Given the description of an element on the screen output the (x, y) to click on. 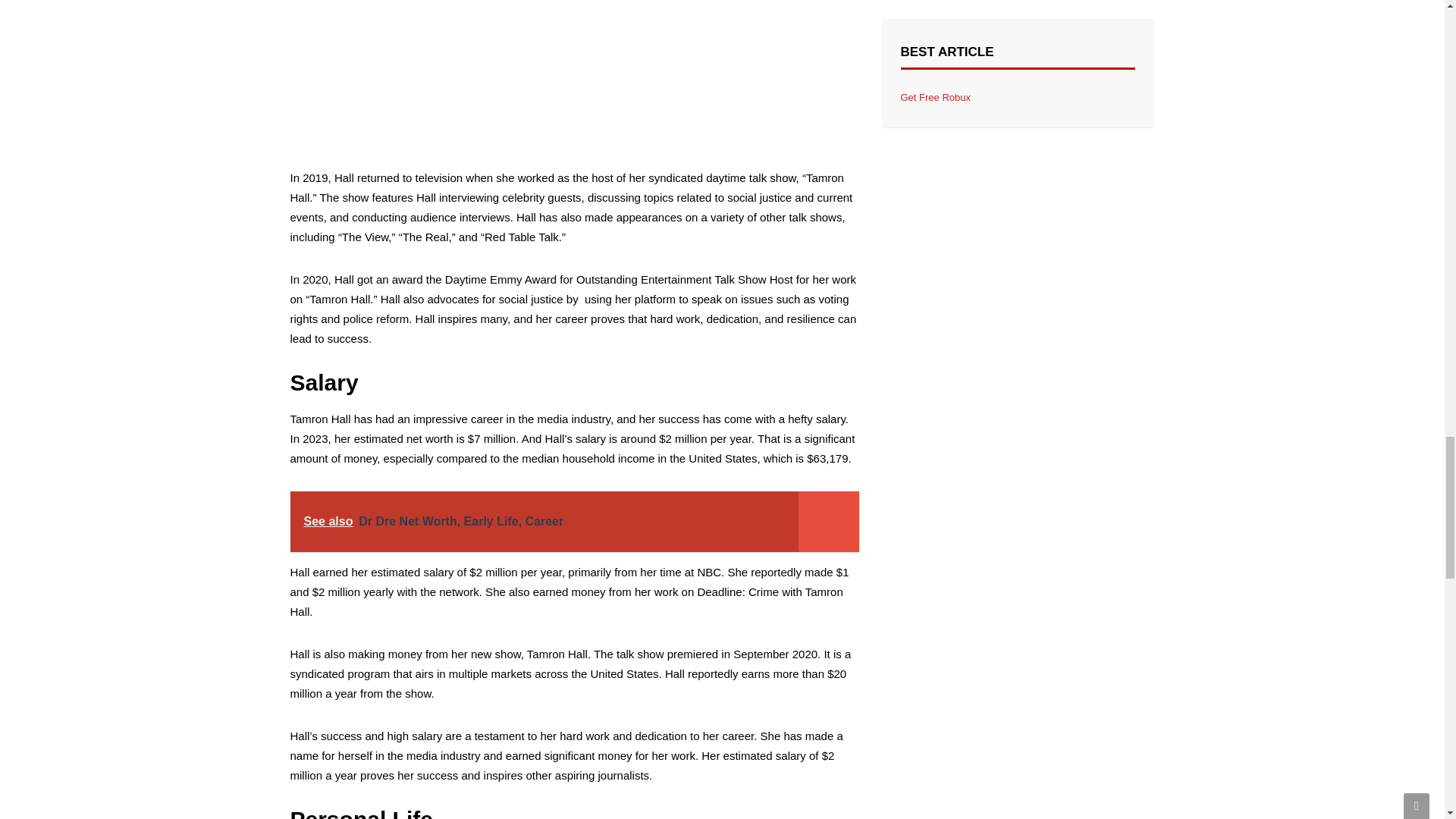
See also  Dr Dre Net Worth, Early Life, Career (574, 521)
